Given the description of an element on the screen output the (x, y) to click on. 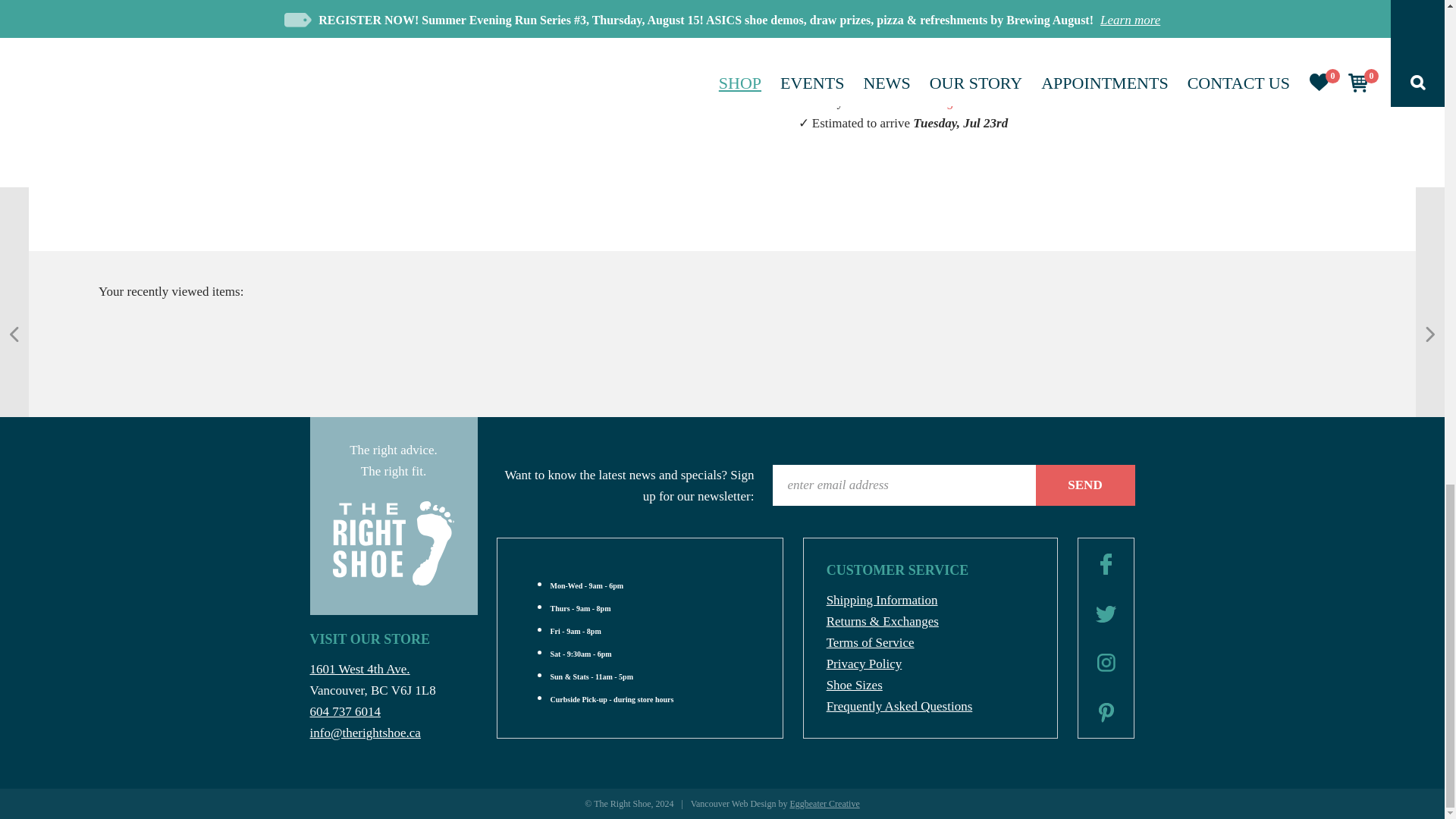
Send (1085, 485)
